Given the description of an element on the screen output the (x, y) to click on. 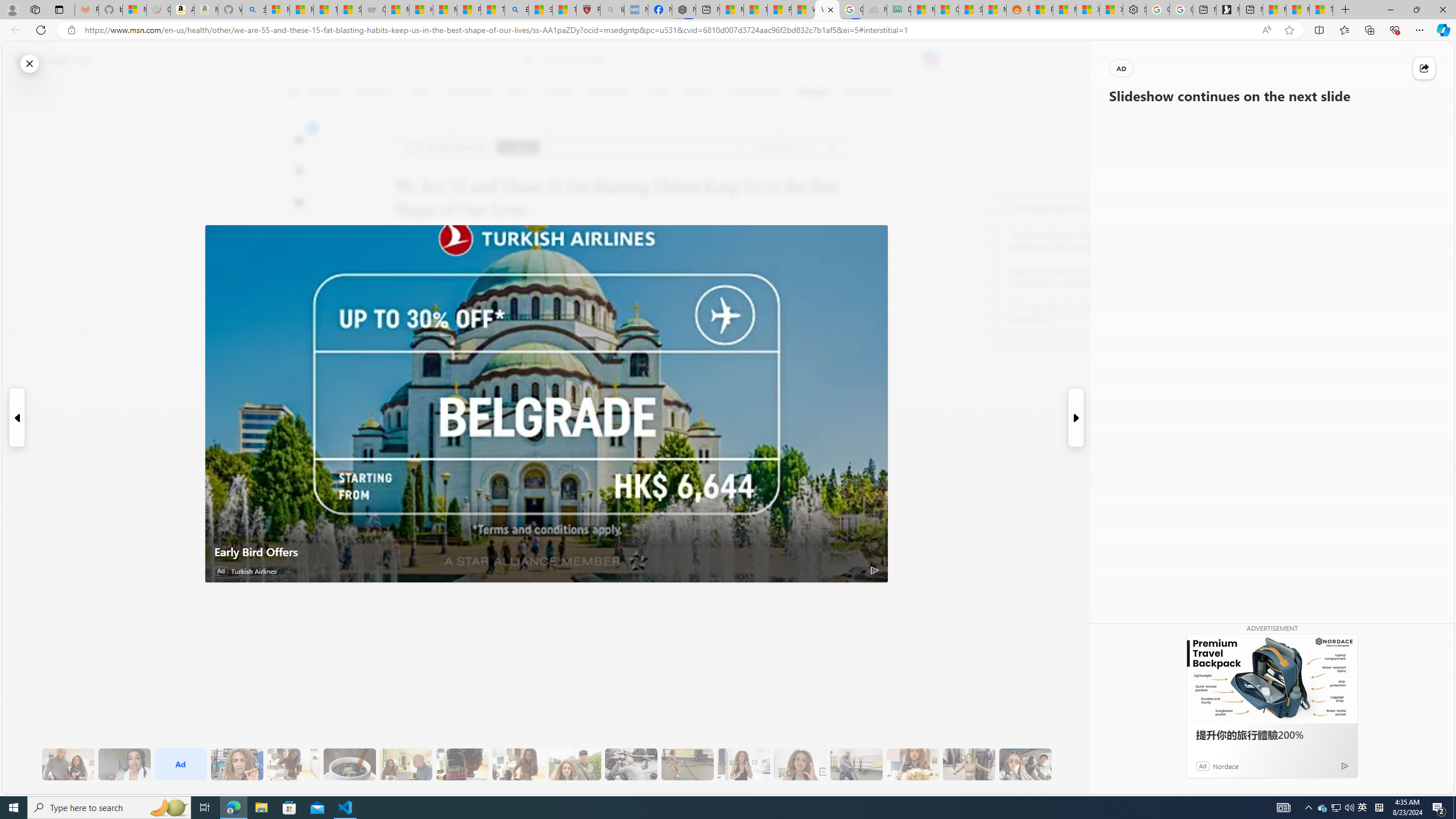
7 They Don't Skip Meals (518, 764)
6 Since Eating More Protein Her Training Has Improved (462, 764)
Early Bird Offers (546, 551)
5 She Eats Less Than Her Husband (406, 764)
Share this story (1423, 67)
How I Got Rid of Microsoft Edge's Unnecessary Features (421, 9)
10 Then, They Do HIIT Cardio (687, 764)
